Given the description of an element on the screen output the (x, y) to click on. 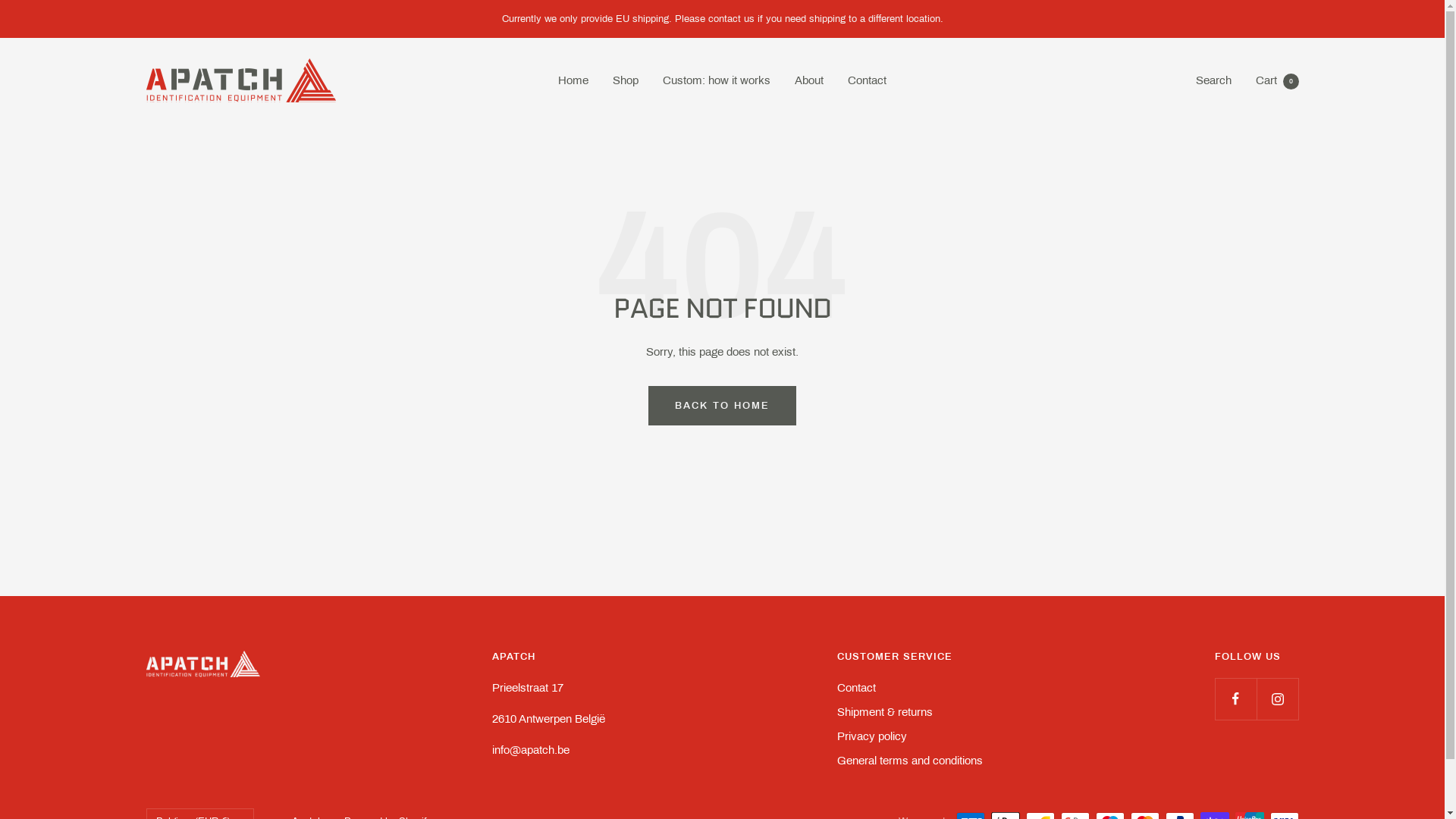
BS Element type: text (272, 792)
AO Element type: text (272, 602)
About Element type: text (808, 80)
Contact Element type: text (866, 80)
AX Element type: text (272, 526)
BH Element type: text (272, 811)
General terms and conditions Element type: text (909, 760)
Privacy policy Element type: text (871, 736)
AM Element type: text (272, 678)
AC Element type: text (272, 716)
AZ Element type: text (272, 773)
Shop Element type: text (625, 80)
AT Element type: text (272, 754)
AR Element type: text (272, 659)
Apatch Element type: text (240, 80)
AW Element type: text (272, 697)
Custom: how it works Element type: text (716, 80)
Contact Element type: text (856, 687)
AG Element type: text (272, 640)
AU Element type: text (272, 735)
AD Element type: text (272, 583)
Shipment & returns Element type: text (884, 711)
BACK TO HOME Element type: text (722, 405)
Home Element type: text (573, 80)
AI Element type: text (272, 621)
Search Element type: text (1212, 80)
Cart
0 Element type: text (1277, 80)
AF Element type: text (272, 507)
AL Element type: text (272, 545)
DZ Element type: text (272, 564)
